Given the description of an element on the screen output the (x, y) to click on. 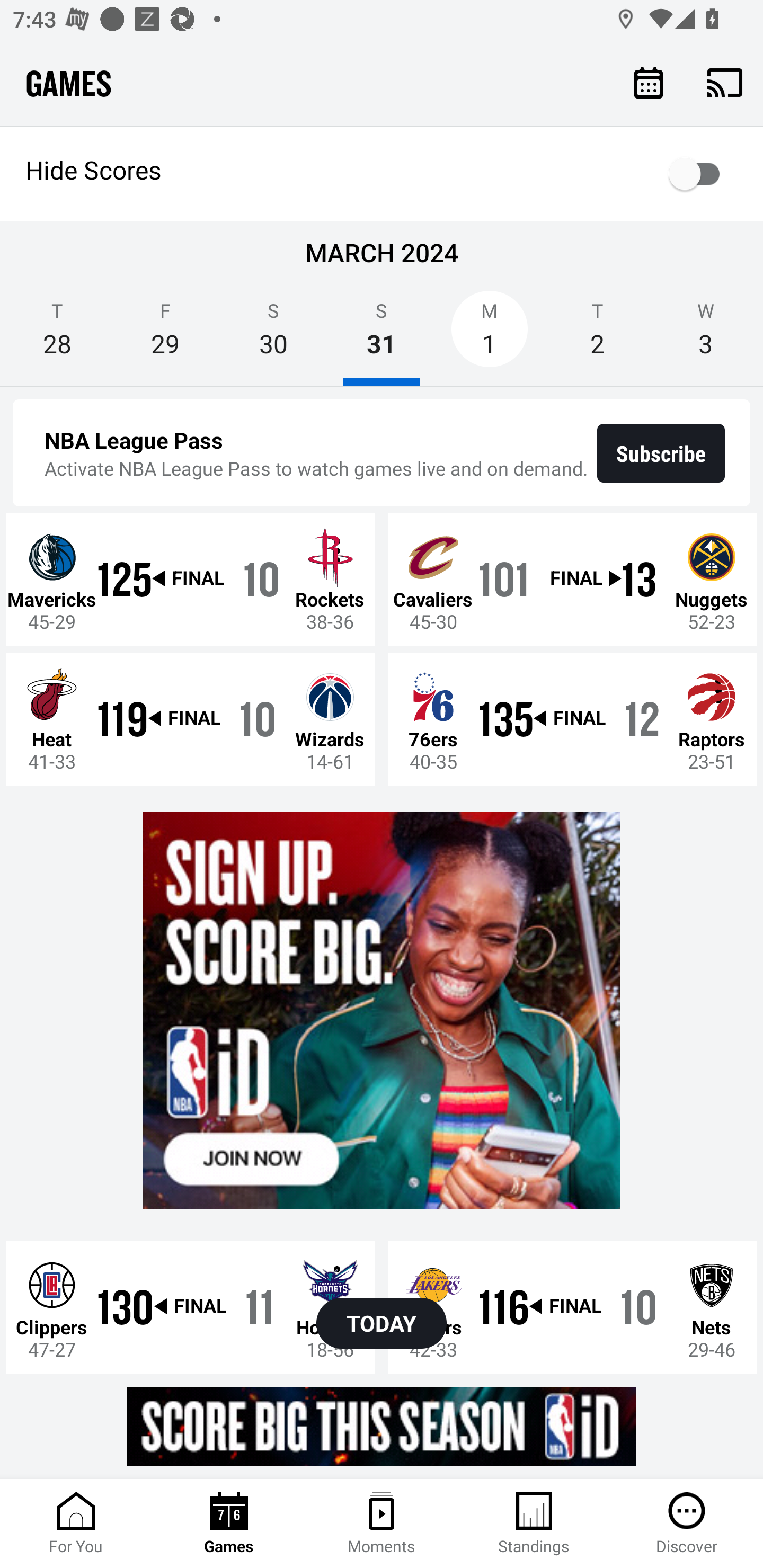
Cast. Disconnected (724, 82)
Calendar (648, 81)
Hide Scores (381, 174)
T 28 (57, 334)
F 29 (165, 334)
S 30 (273, 334)
S 31 (381, 334)
M 1 (489, 334)
T 2 (597, 334)
W 3 (705, 334)
Subscribe (660, 452)
Mavericks 45-29 125 FINAL 107 Rockets 38-36 (190, 579)
Cavaliers 45-30 101 FINAL 130 Nuggets 52-23 (571, 579)
Heat 41-33 119 FINAL 107 Wizards 14-61 (190, 718)
76ers 40-35 135 FINAL 120 Raptors 23-51 (571, 718)
g5nqqygr7owph (381, 1010)
Clippers 47-27 130 FINAL 118 Hornets 18-56 (190, 1306)
Lakers 42-33 116 FINAL 104 Nets 29-46 (571, 1306)
TODAY (381, 1323)
g5nqqygr7owph (381, 1426)
For You (76, 1523)
Moments (381, 1523)
Standings (533, 1523)
Discover (686, 1523)
